Given the description of an element on the screen output the (x, y) to click on. 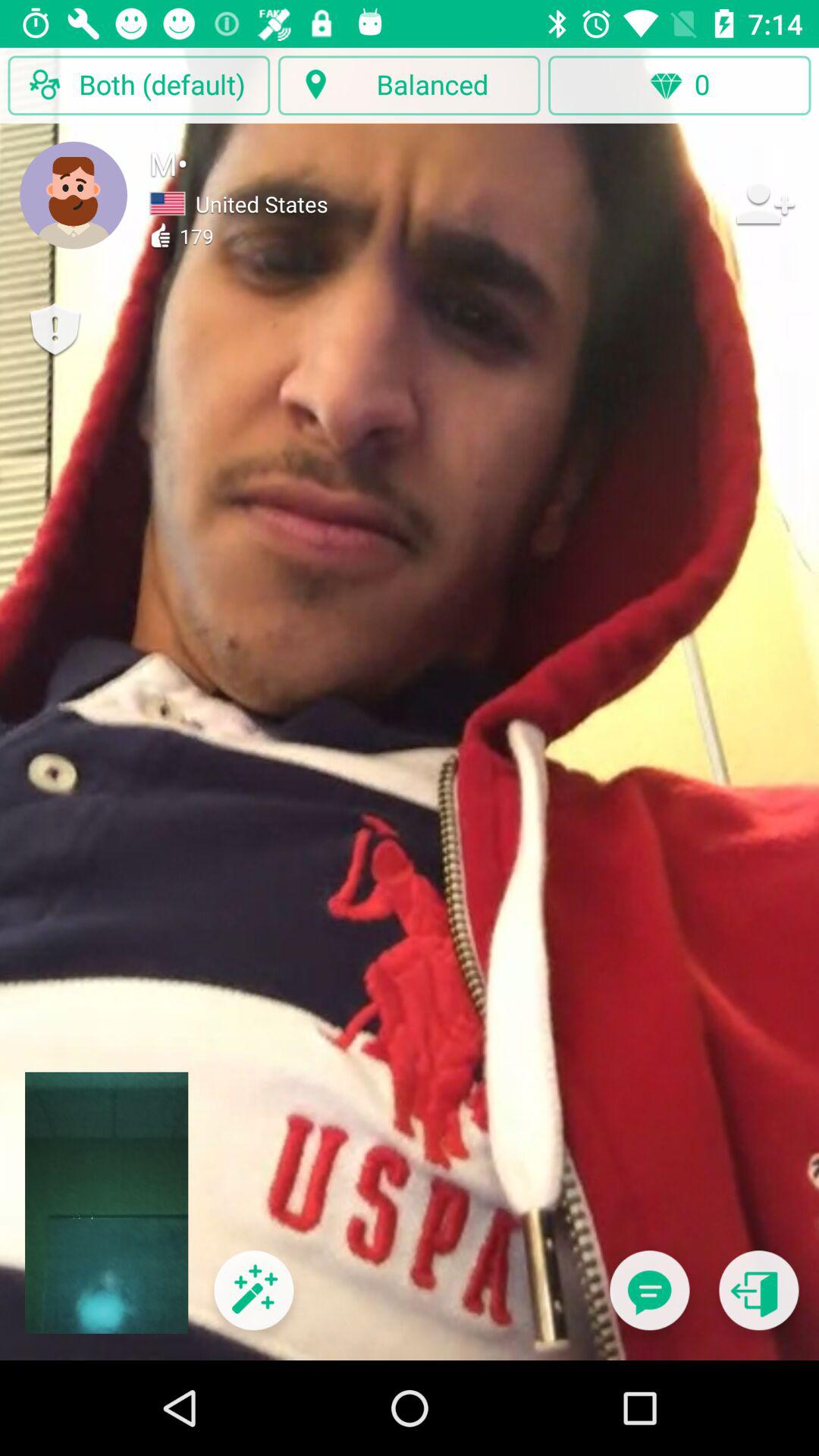
special effects (253, 1300)
